Given the description of an element on the screen output the (x, y) to click on. 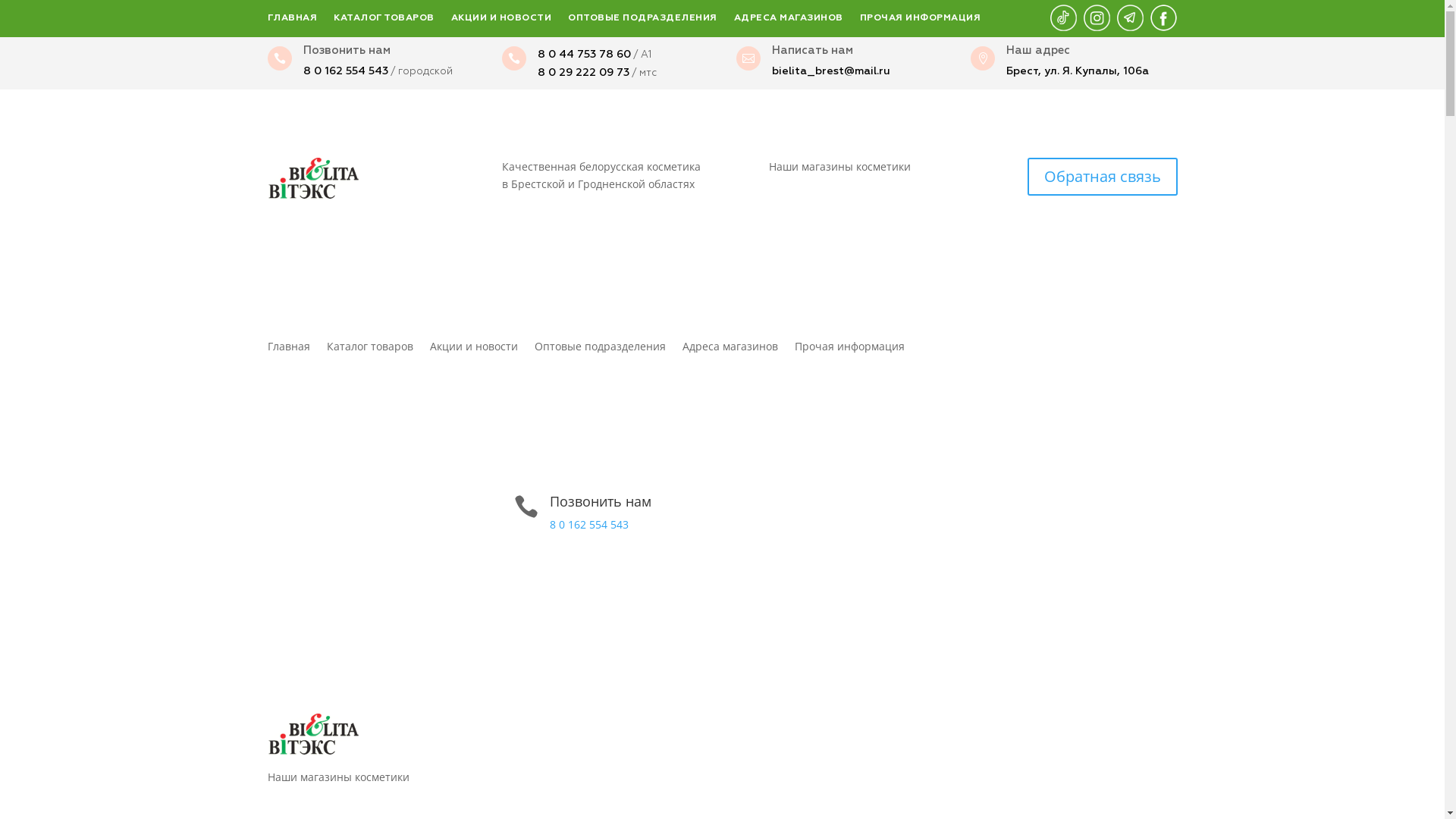
8 0 162 554 543 Element type: text (588, 524)
logo Element type: hover (311, 733)
8 0 29 222 09 73 Element type: text (582, 72)
bielita_brest@mail.ru Element type: text (830, 70)
8 0 162 554 543 Element type: text (345, 70)
8 0 44 753 78 60 Element type: text (583, 54)
logo Element type: hover (311, 177)
